Given the description of an element on the screen output the (x, y) to click on. 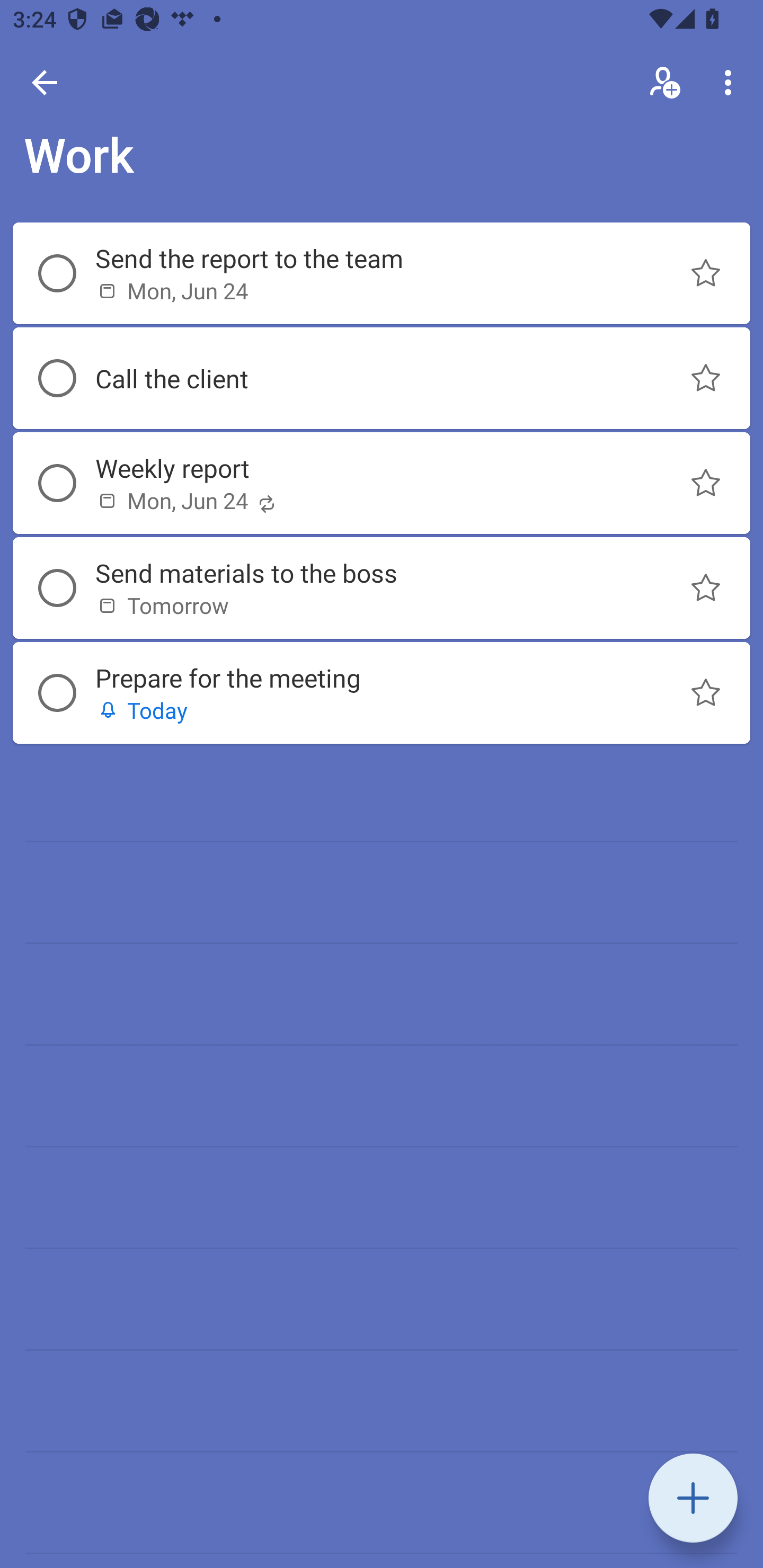
Add a task (692, 1497)
